Given the description of an element on the screen output the (x, y) to click on. 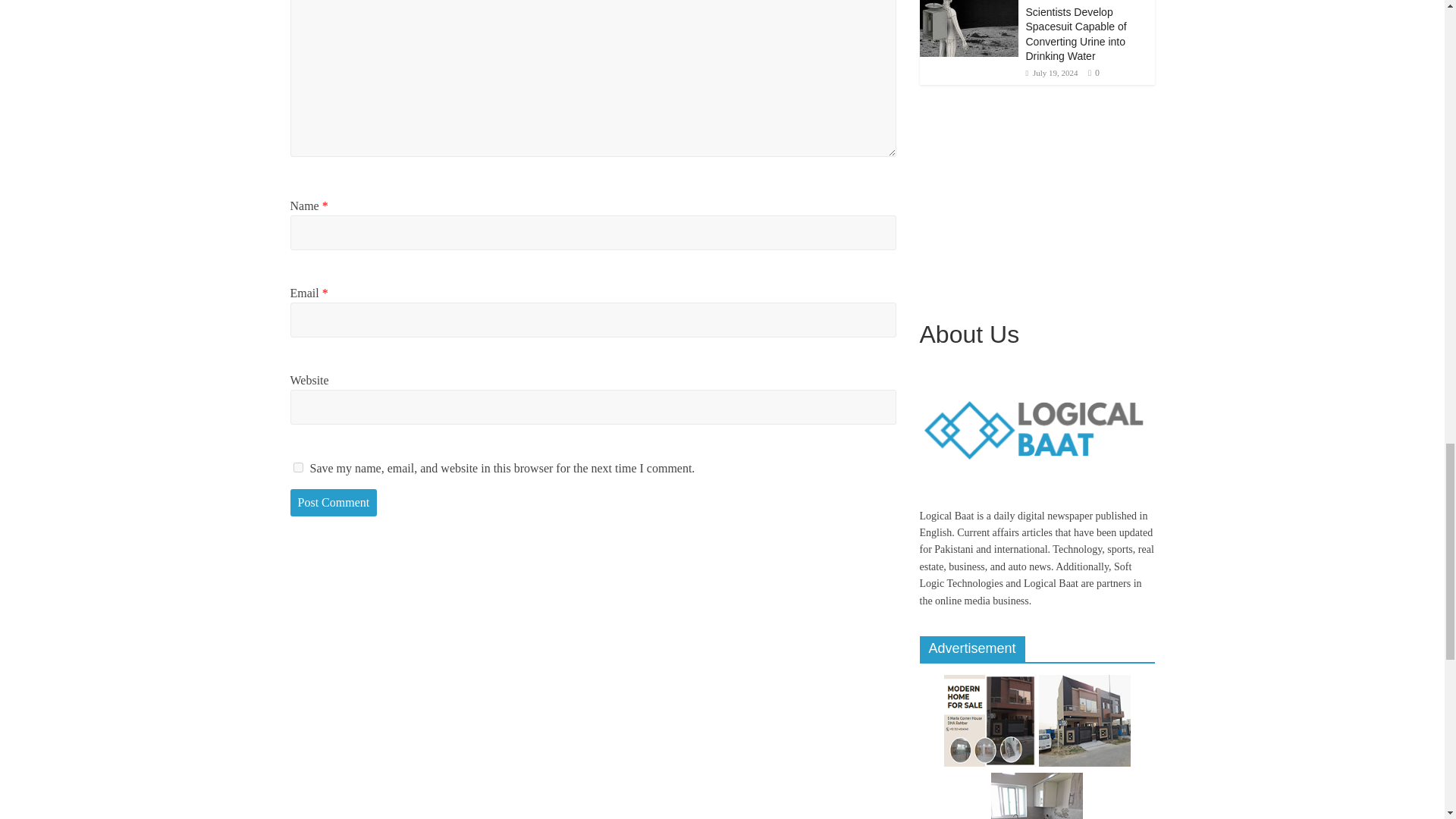
Post Comment (333, 502)
yes (297, 467)
